Given the description of an element on the screen output the (x, y) to click on. 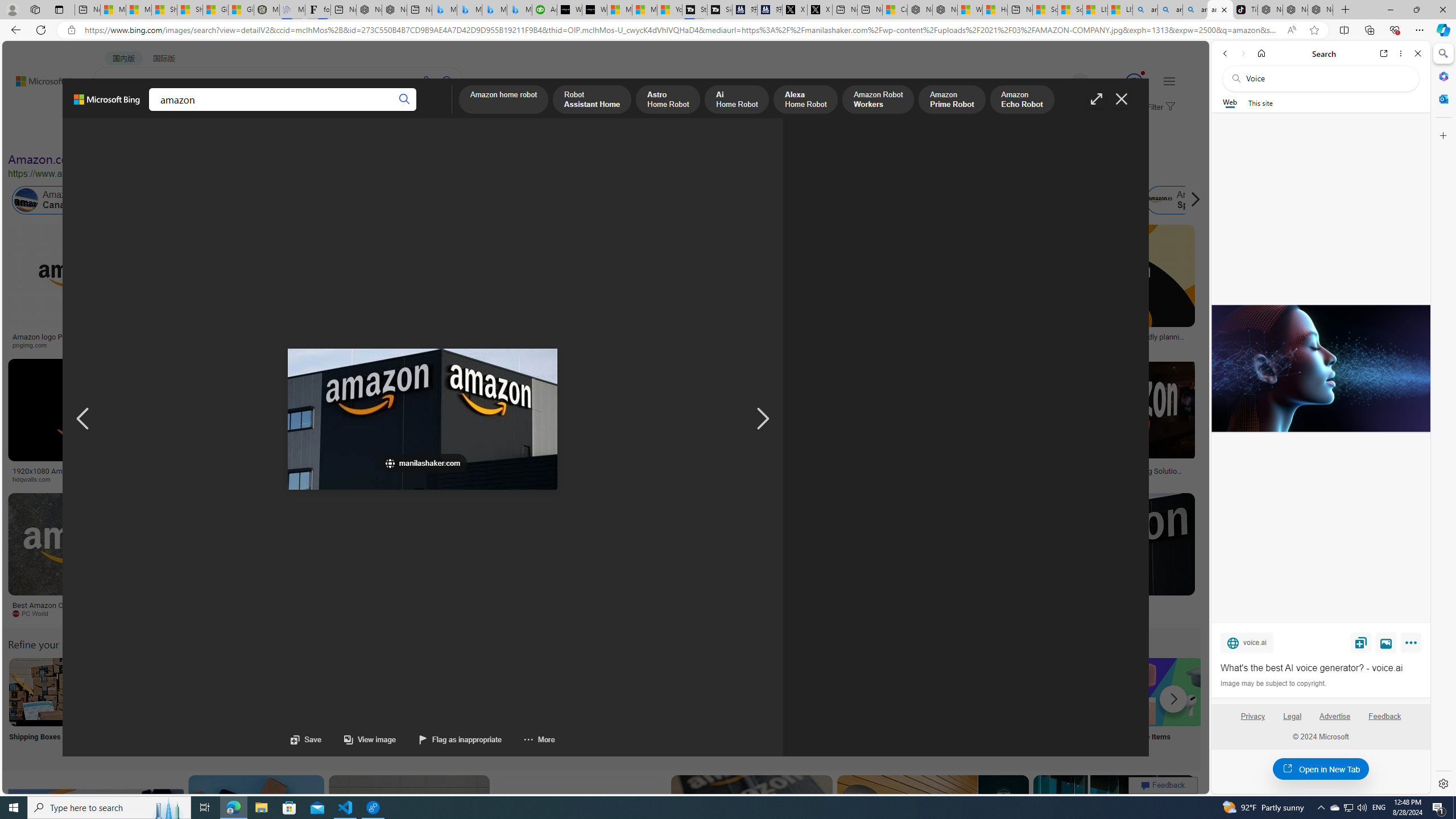
Streaming Coverage | T3 (694, 9)
Microsoft Bing, Back to Bing search (106, 104)
Amazon Sign in My Account (718, 691)
Ai Home Robot (737, 100)
Home (1261, 53)
Nordace - Best Sellers (1270, 9)
Microsoft 365 (1442, 76)
ACADEMIC (311, 111)
hdqwalls.com (35, 479)
Amazon Cloud (344, 199)
protothema.gr (1043, 612)
Side bar (1443, 418)
cordcuttersnews.com (916, 613)
Jobs Near Me (342, 706)
